Given the description of an element on the screen output the (x, y) to click on. 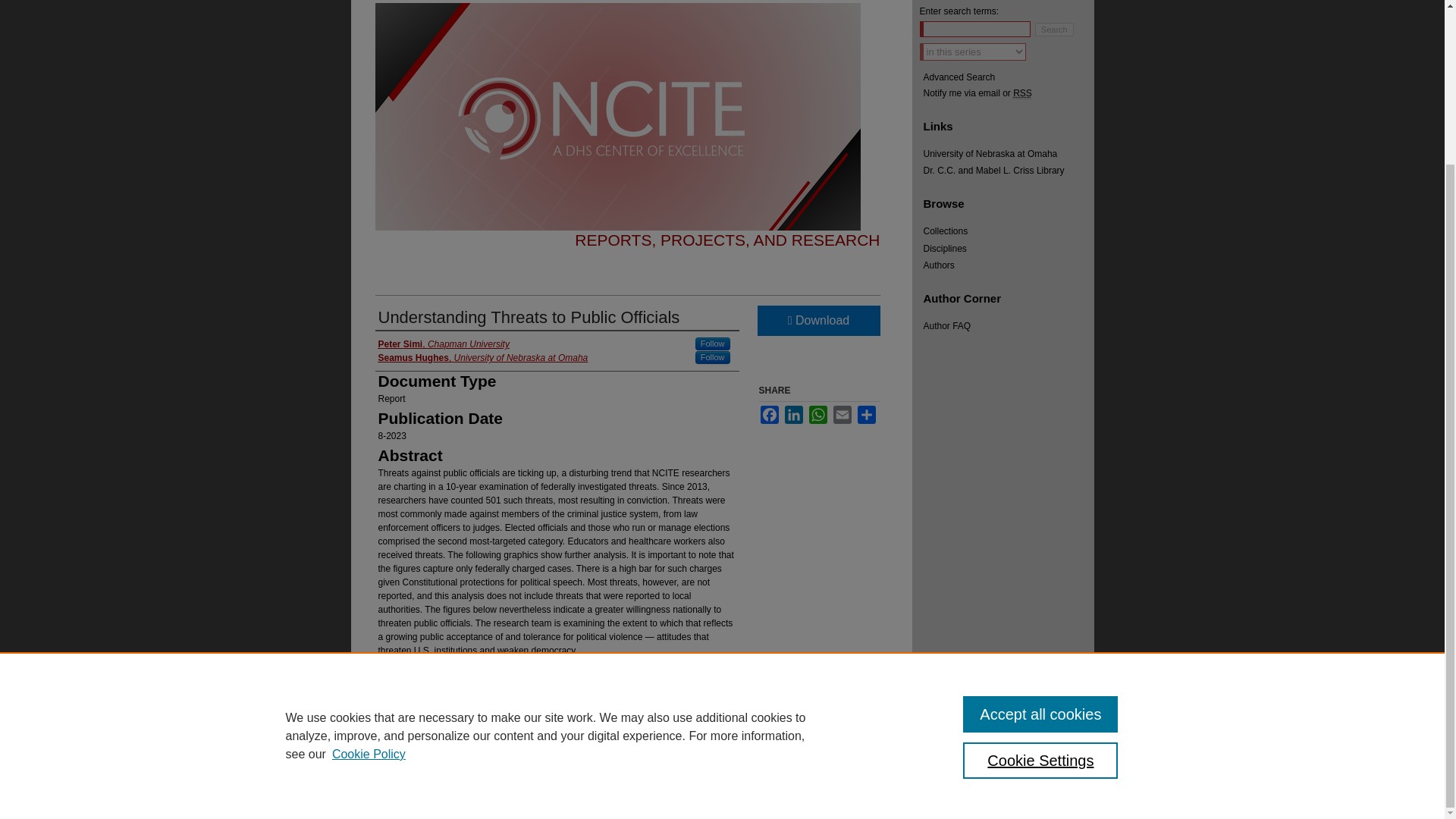
Dr. C.C. and Mabel L. Criss Library (1008, 170)
Follow Peter Simi (712, 343)
Notify me via email or RSS (1008, 92)
Follow (712, 343)
LinkedIn (793, 414)
Email or RSS Notifications (1008, 92)
Collections (1008, 231)
Seamus Hughes, University of Nebraska at Omaha (482, 357)
Share (866, 414)
WhatsApp (817, 414)
University of Nebraska at Omaha (1008, 153)
REPORTS, PROJECTS, AND RESEARCH (727, 239)
Search (1054, 29)
Peter Simi, Chapman University (442, 344)
Advanced Search (959, 77)
